Given the description of an element on the screen output the (x, y) to click on. 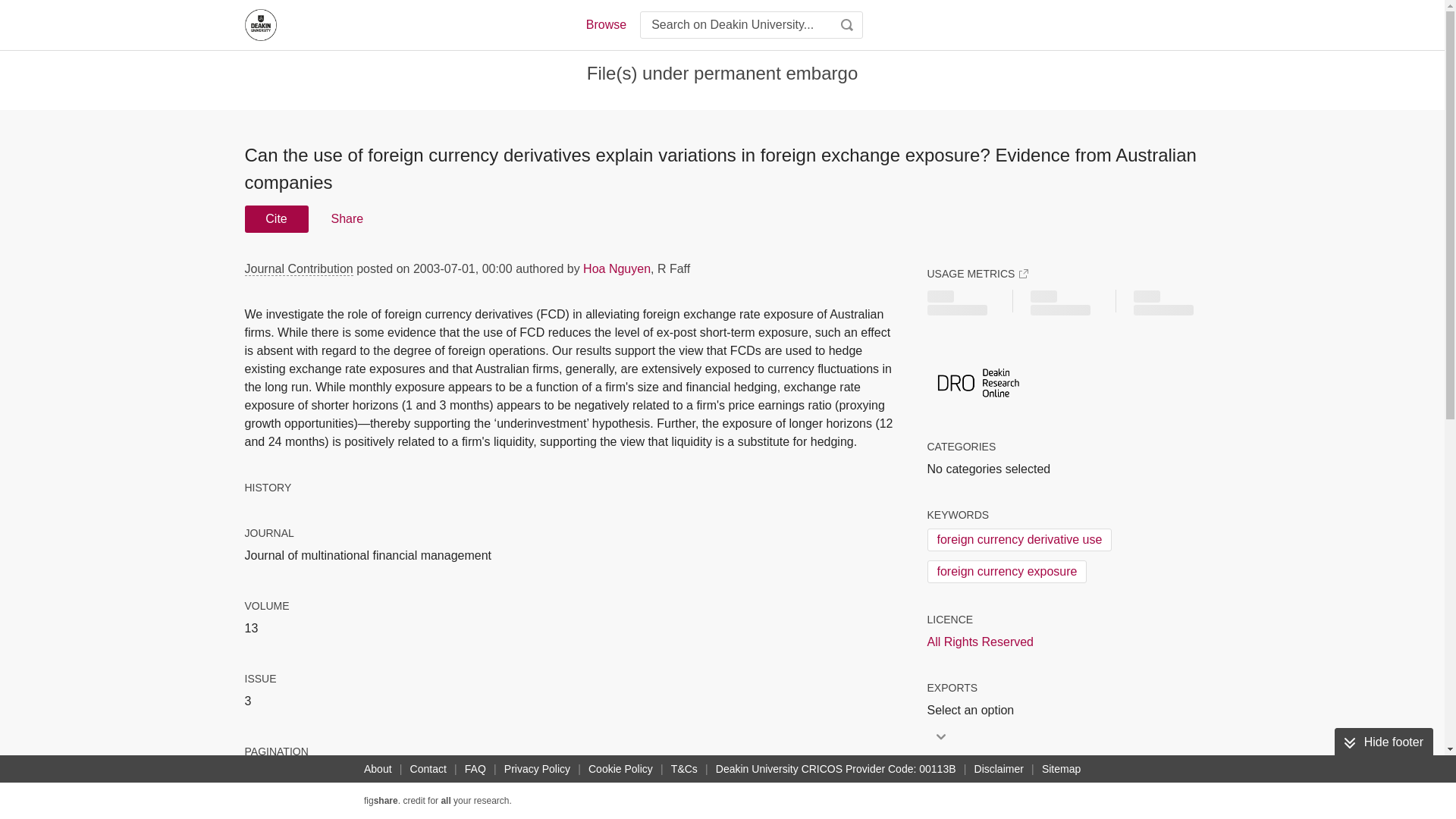
Cookie Policy (620, 769)
Browse (605, 24)
Cite (275, 218)
Disclaimer (998, 769)
Sitemap (1060, 769)
foreign currency derivative use (1019, 539)
Share (346, 218)
All Rights Reserved (979, 642)
Deakin University CRICOS Provider Code: 00113B (835, 769)
USAGE METRICS (976, 273)
foreign currency exposure (1006, 571)
Privacy Policy (537, 769)
Contact (428, 769)
About (377, 769)
FAQ (475, 769)
